Given the description of an element on the screen output the (x, y) to click on. 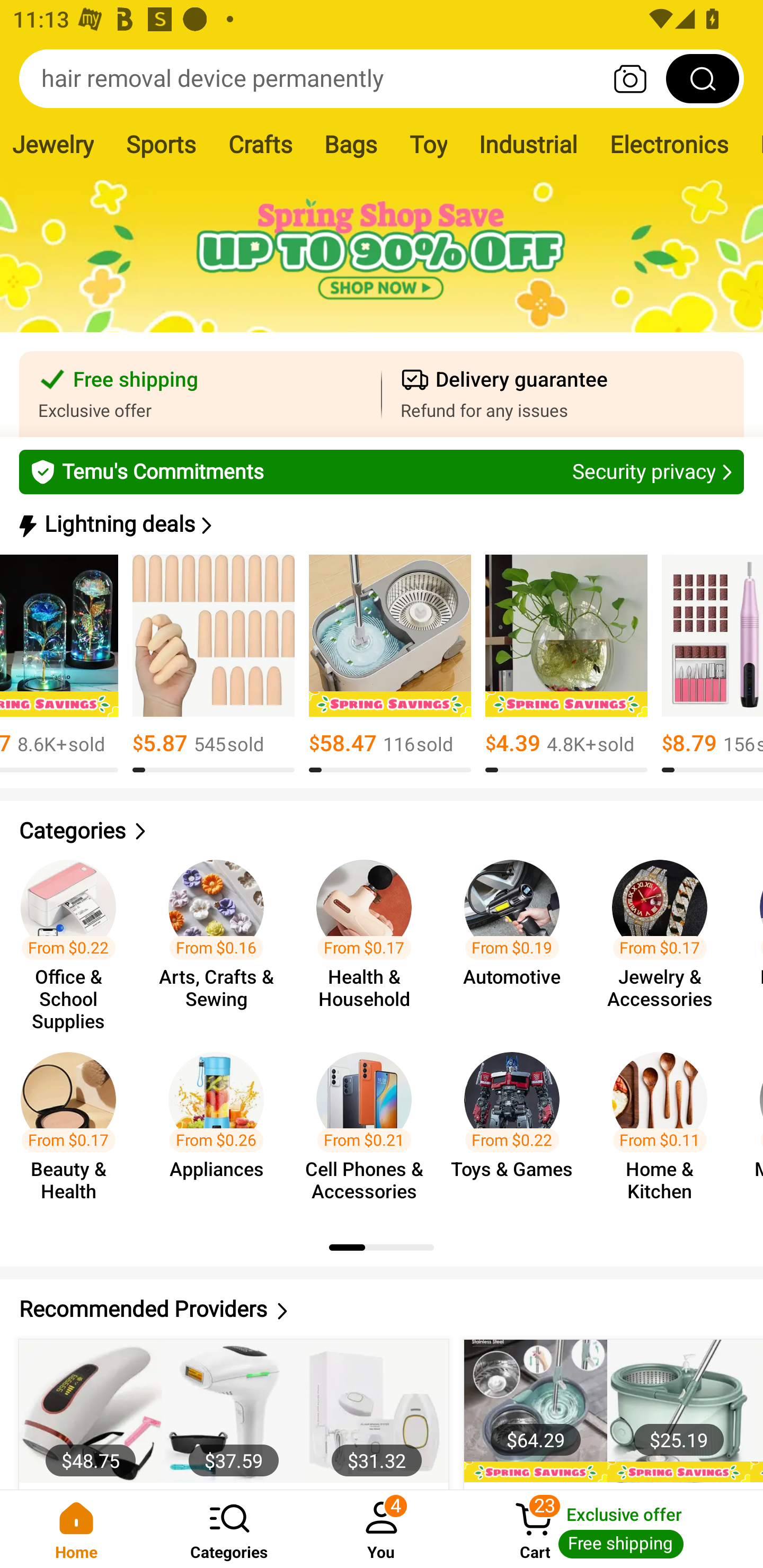
hair removal device permanently (381, 78)
Jewelry (54, 144)
Sports (160, 144)
Crafts (260, 144)
Bags (350, 144)
Toy (427, 144)
Industrial (528, 144)
Electronics (668, 144)
Free shipping Exclusive offer (200, 394)
Delivery guarantee Refund for any issues (562, 394)
Temu's Commitments (381, 471)
Lightning deals (379, 524)
$8.17 8.6K+￼sold 18.0 (59, 664)
$5.87 545￼sold 8.0 (213, 664)
$58.47 116￼sold 8.0 (389, 664)
$4.39 4.8K+￼sold 8.0 (566, 664)
$8.79 156￼sold 8.0 (712, 664)
Categories (381, 830)
From $0.22 Office & School Supplies (74, 936)
From $0.16 Arts, Crafts & Sewing (222, 936)
From $0.17 Health & Household (369, 936)
From $0.19 Automotive (517, 936)
From $0.17 Jewelry & Accessories (665, 936)
From $0.17 Beauty & Health (74, 1128)
From $0.26 Appliances (222, 1128)
From $0.21 Cell Phones & Accessories (369, 1128)
From $0.22 Toys & Games (517, 1128)
From $0.11 Home & Kitchen (665, 1128)
Recommended Providers (381, 1309)
Home (76, 1528)
Categories (228, 1528)
You 4 You (381, 1528)
Cart 23 Cart Exclusive offer (610, 1528)
